Given the description of an element on the screen output the (x, y) to click on. 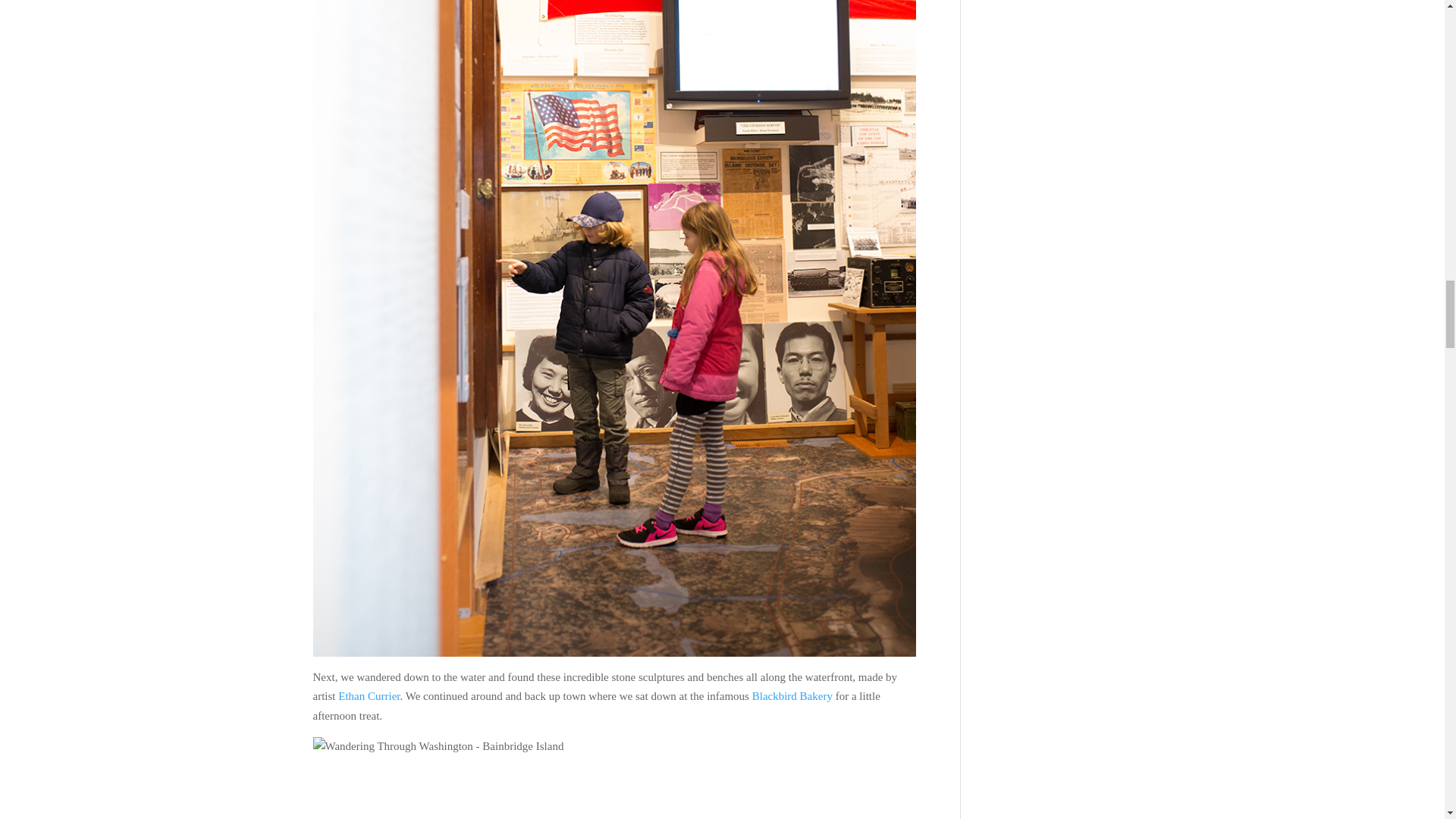
Ethan Currier (366, 695)
